Given the description of an element on the screen output the (x, y) to click on. 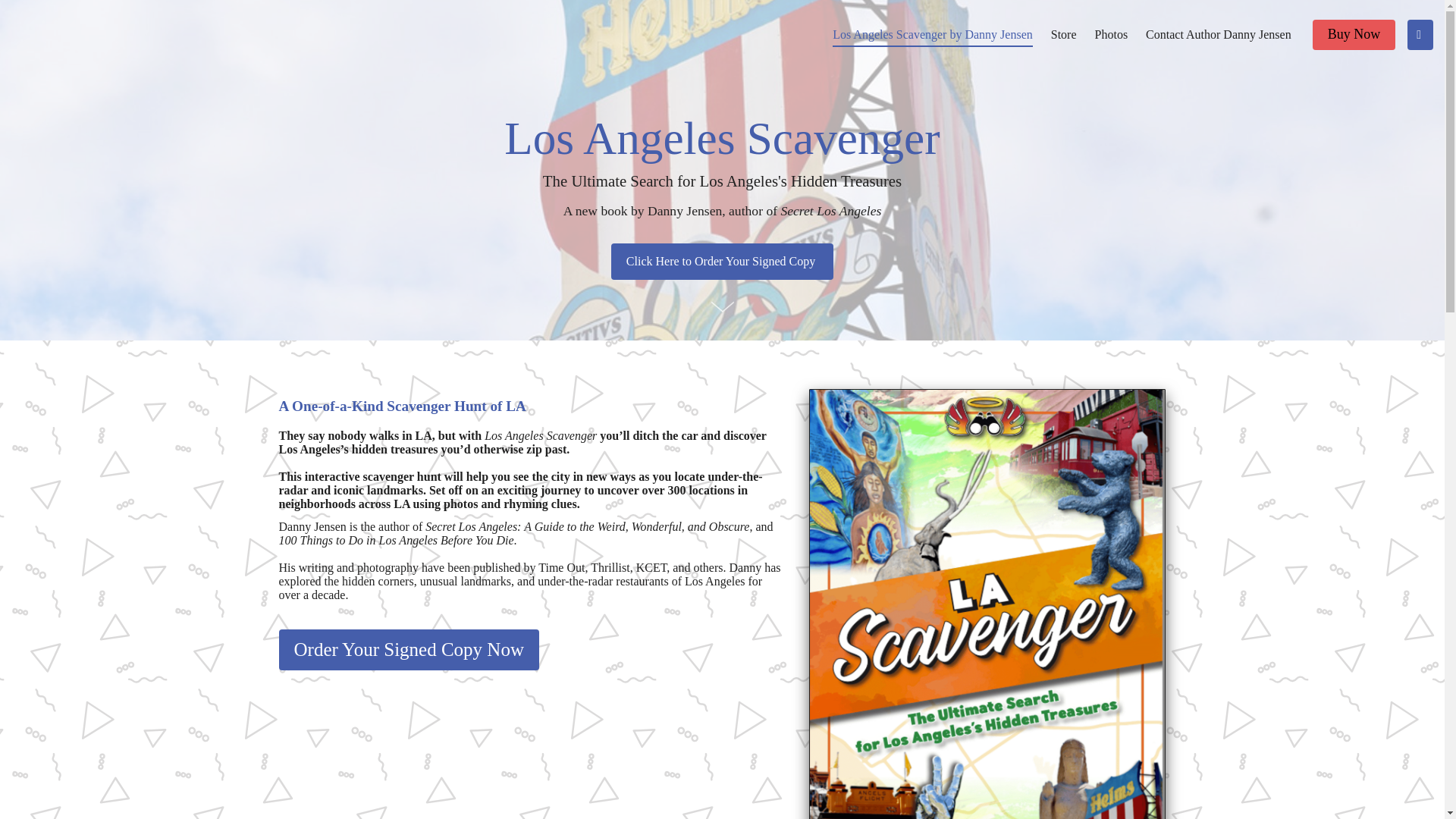
Contact Author Danny Jensen (1218, 33)
Buy Now (1354, 34)
Los Angeles Scavenger by Danny Jensen (932, 33)
Click Here to Order Your Signed Copy  (721, 261)
Order Your Signed Copy Now (408, 649)
Store (1064, 33)
Photos (1111, 33)
